Given the description of an element on the screen output the (x, y) to click on. 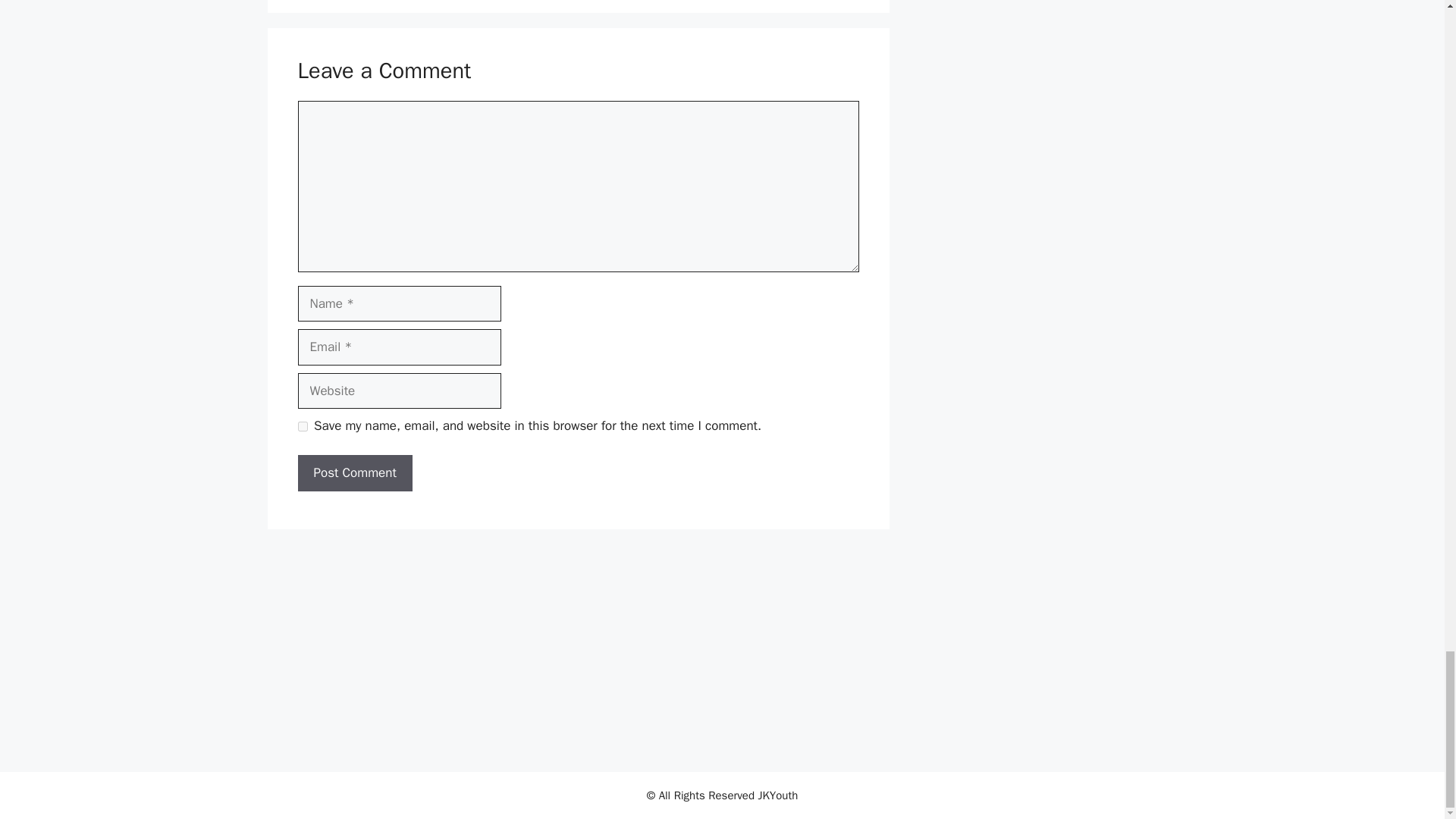
yes (302, 426)
Post Comment (354, 473)
Post Comment (354, 473)
